Given the description of an element on the screen output the (x, y) to click on. 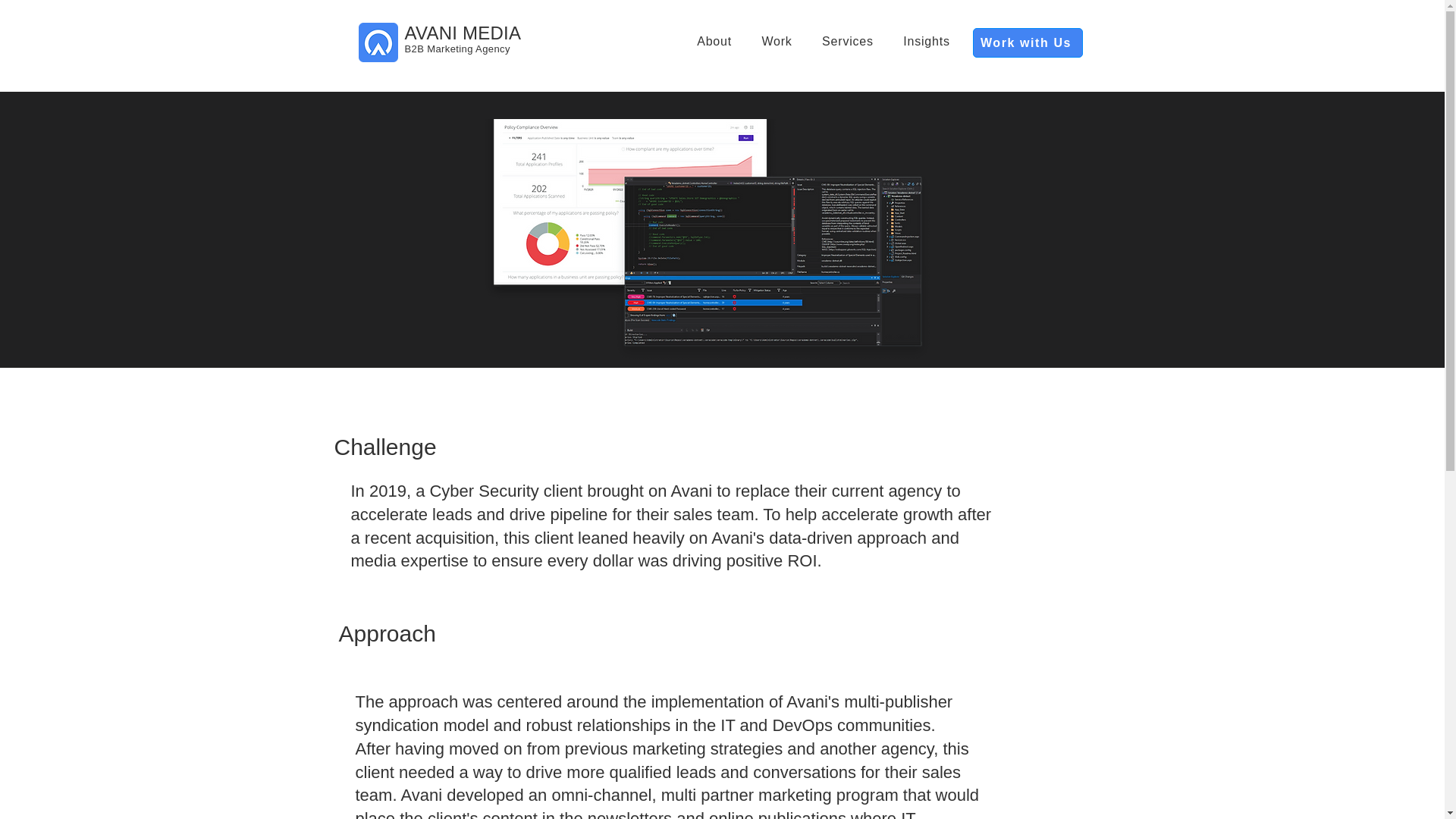
AvaniLogoRoundedSquare.png (377, 42)
Insights (926, 41)
Work with Us (1026, 42)
Work (777, 41)
About (714, 41)
Services (847, 41)
AVANI MEDIA (462, 32)
